Given the description of an element on the screen output the (x, y) to click on. 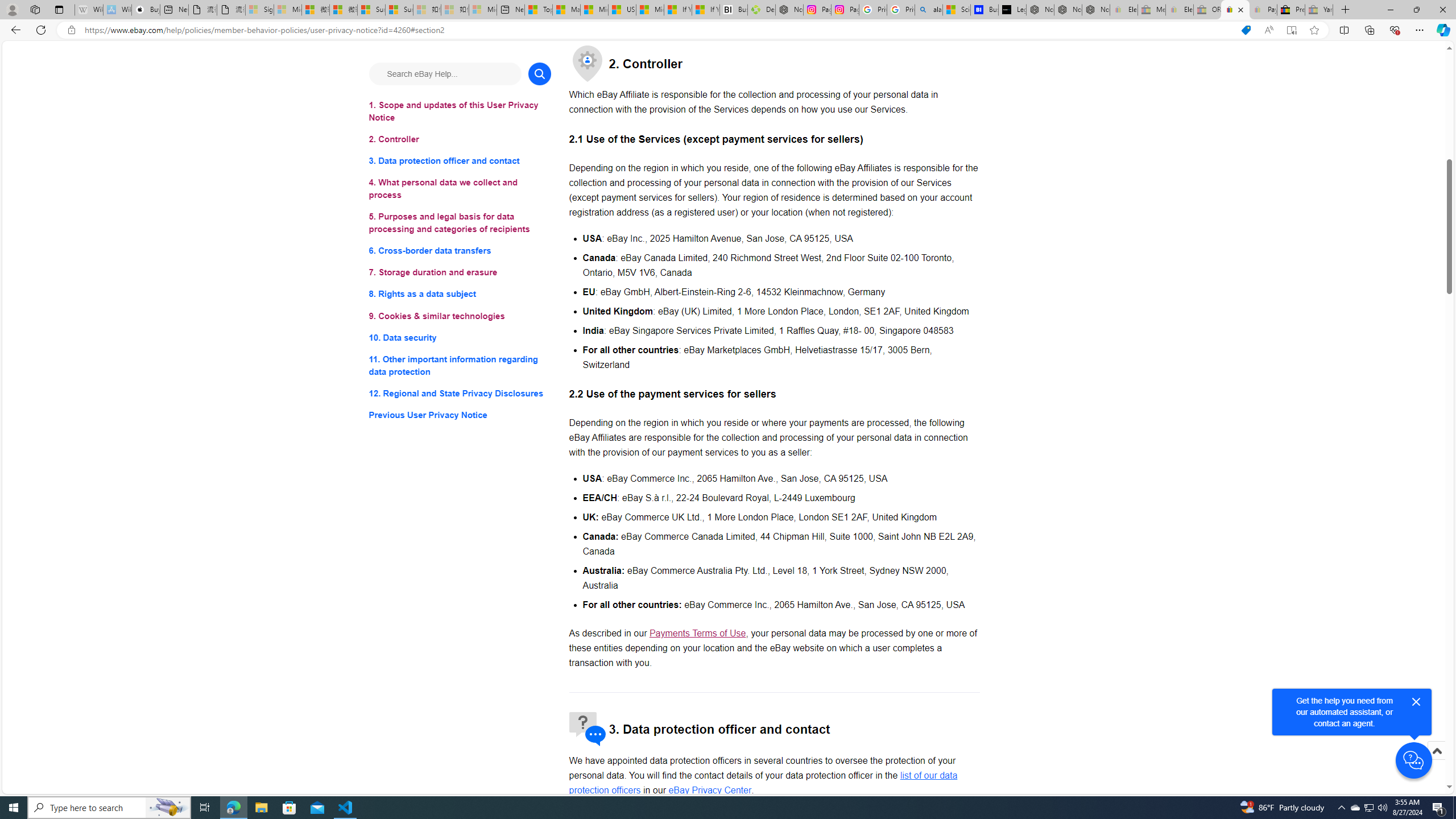
2. Controller (459, 138)
7. Storage duration and erasure (459, 272)
6. Cross-border data transfers (459, 250)
8. Rights as a data subject (459, 293)
Previous User Privacy Notice (459, 414)
